Given the description of an element on the screen output the (x, y) to click on. 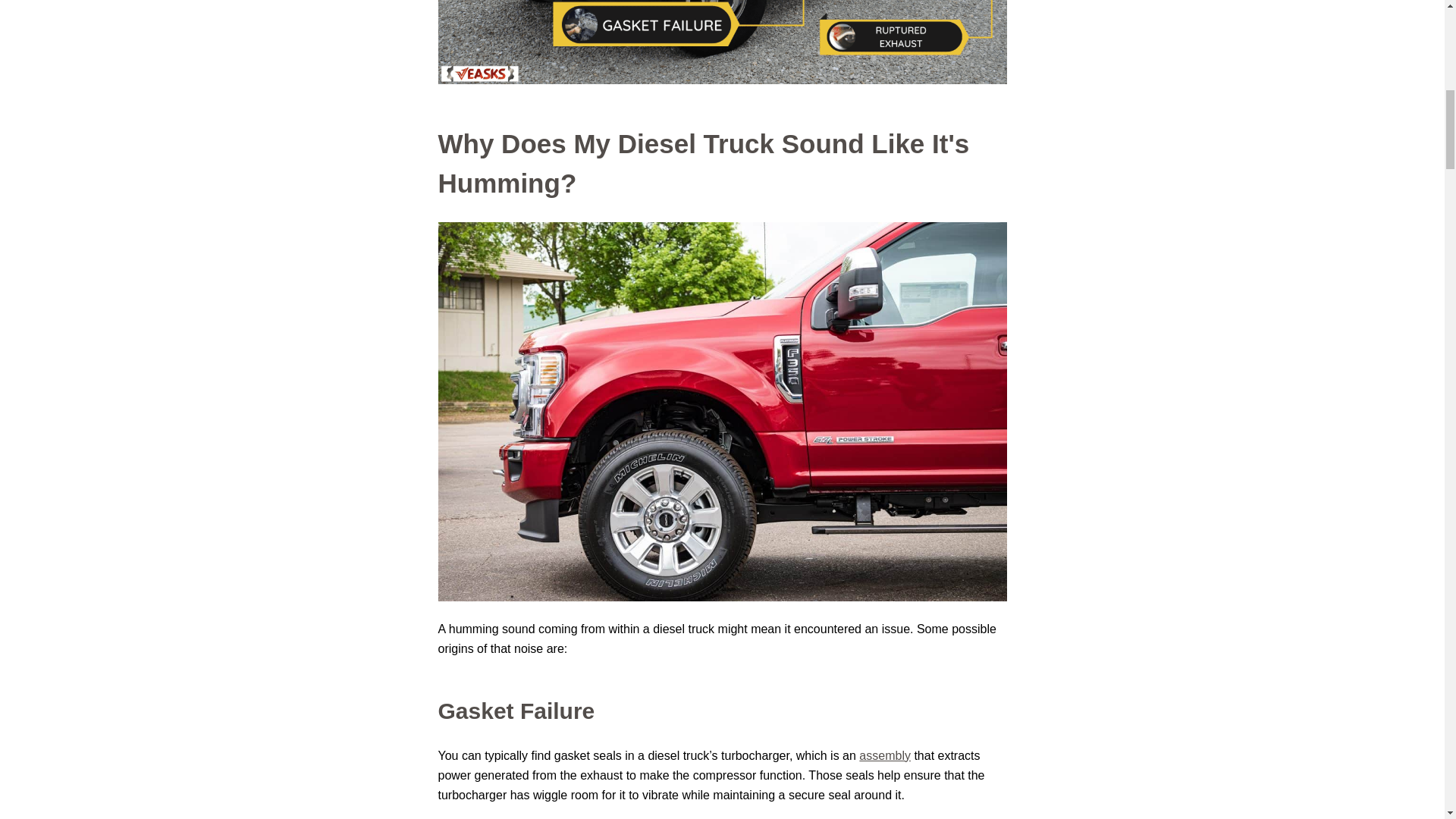
assembly (885, 755)
